Given the description of an element on the screen output the (x, y) to click on. 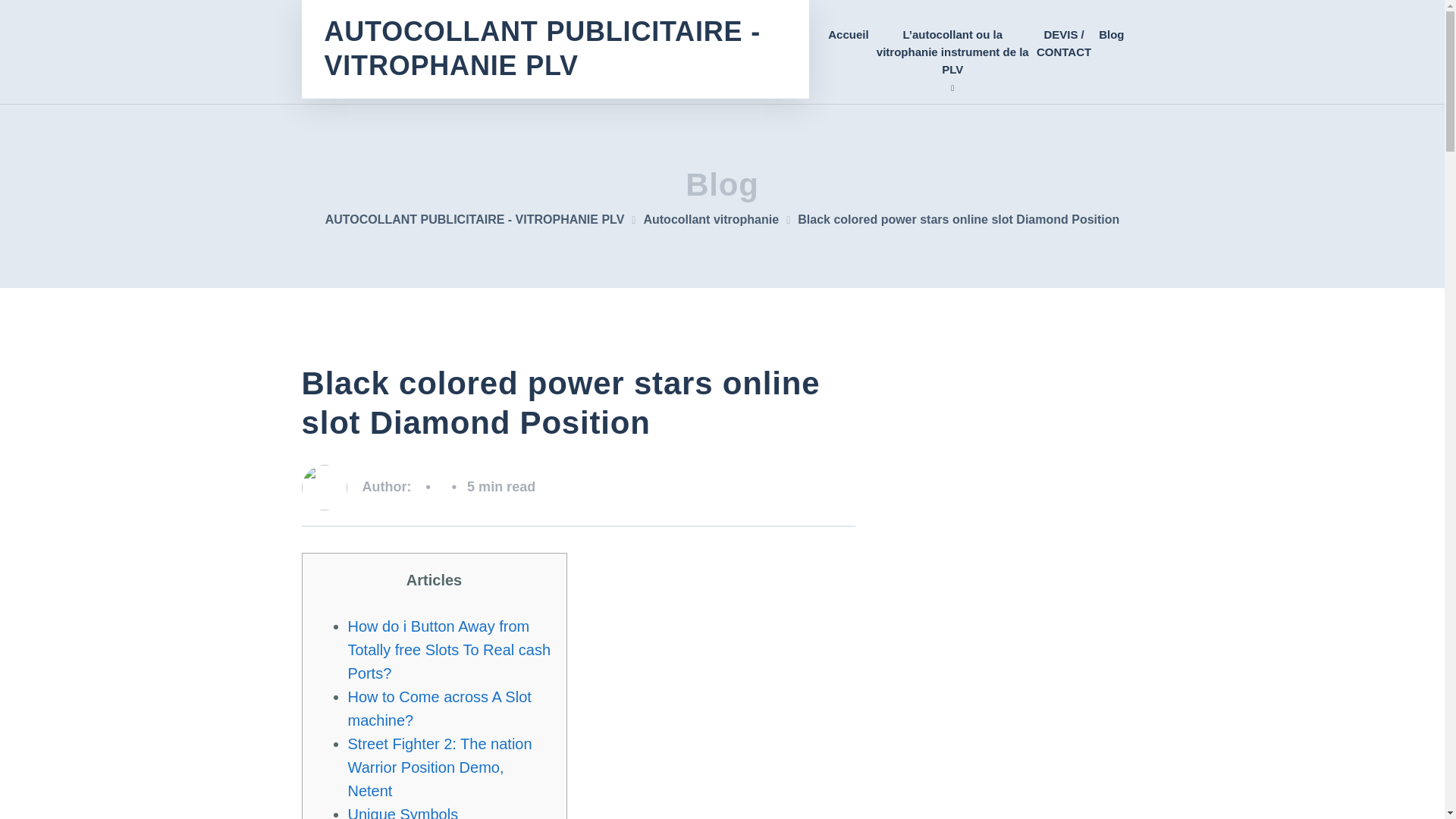
How to Come across A Slot machine? (439, 708)
Unique Symbols (402, 812)
Go to AUTOCOLLANT PUBLICITAIRE - VITROPHANIE PLV. (483, 219)
AUTOCOLLANT PUBLICITAIRE - VITROPHANIE PLV (555, 49)
Street Fighter 2: The nation Warrior Position Demo, Netent (439, 767)
AUTOCOLLANT PUBLICITAIRE - VITROPHANIE PLV (483, 219)
bold (952, 52)
Autocollant vitrophanie (720, 219)
